Given the description of an element on the screen output the (x, y) to click on. 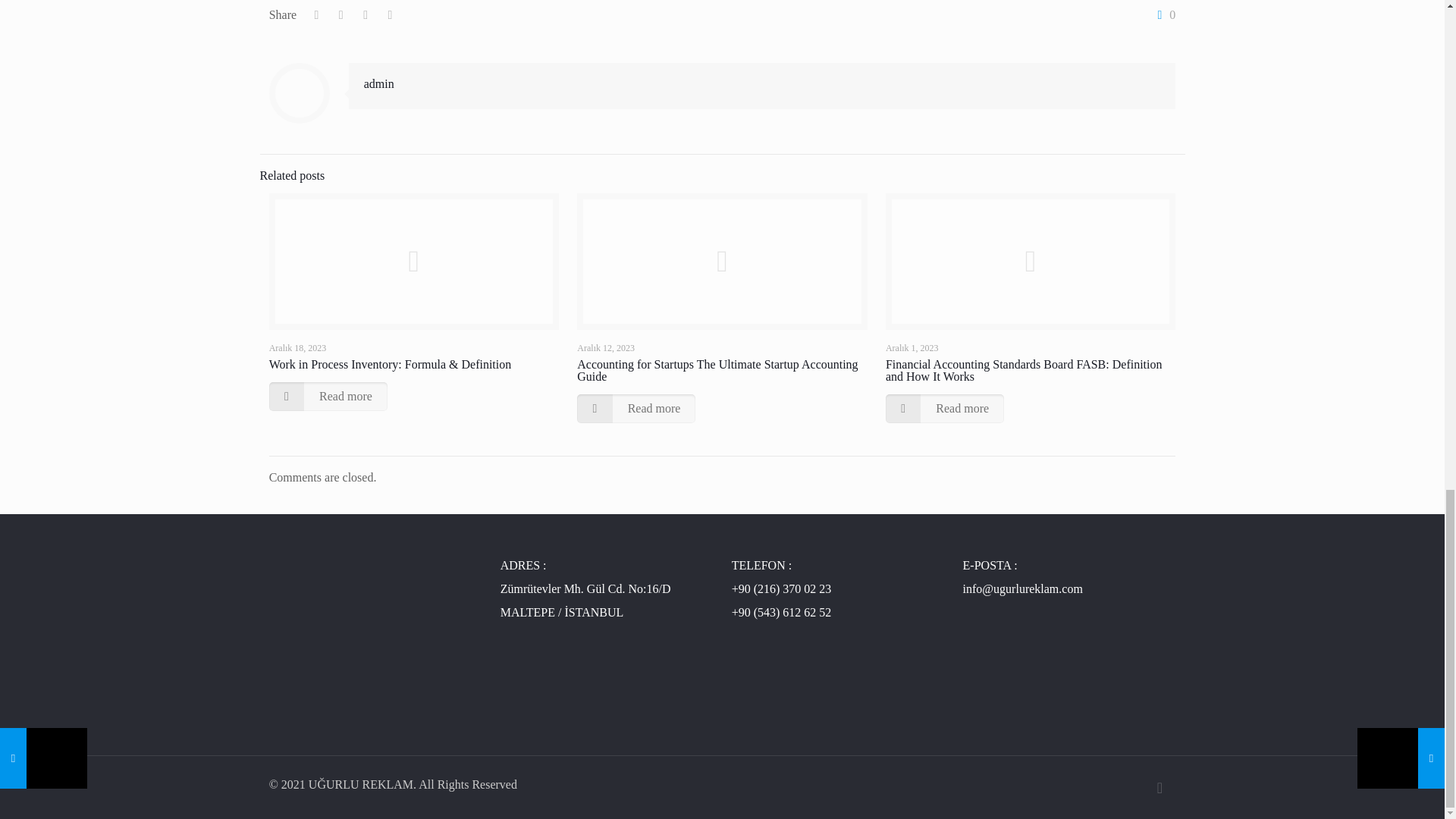
Read more (328, 396)
0 (1162, 15)
admin (379, 83)
